Given the description of an element on the screen output the (x, y) to click on. 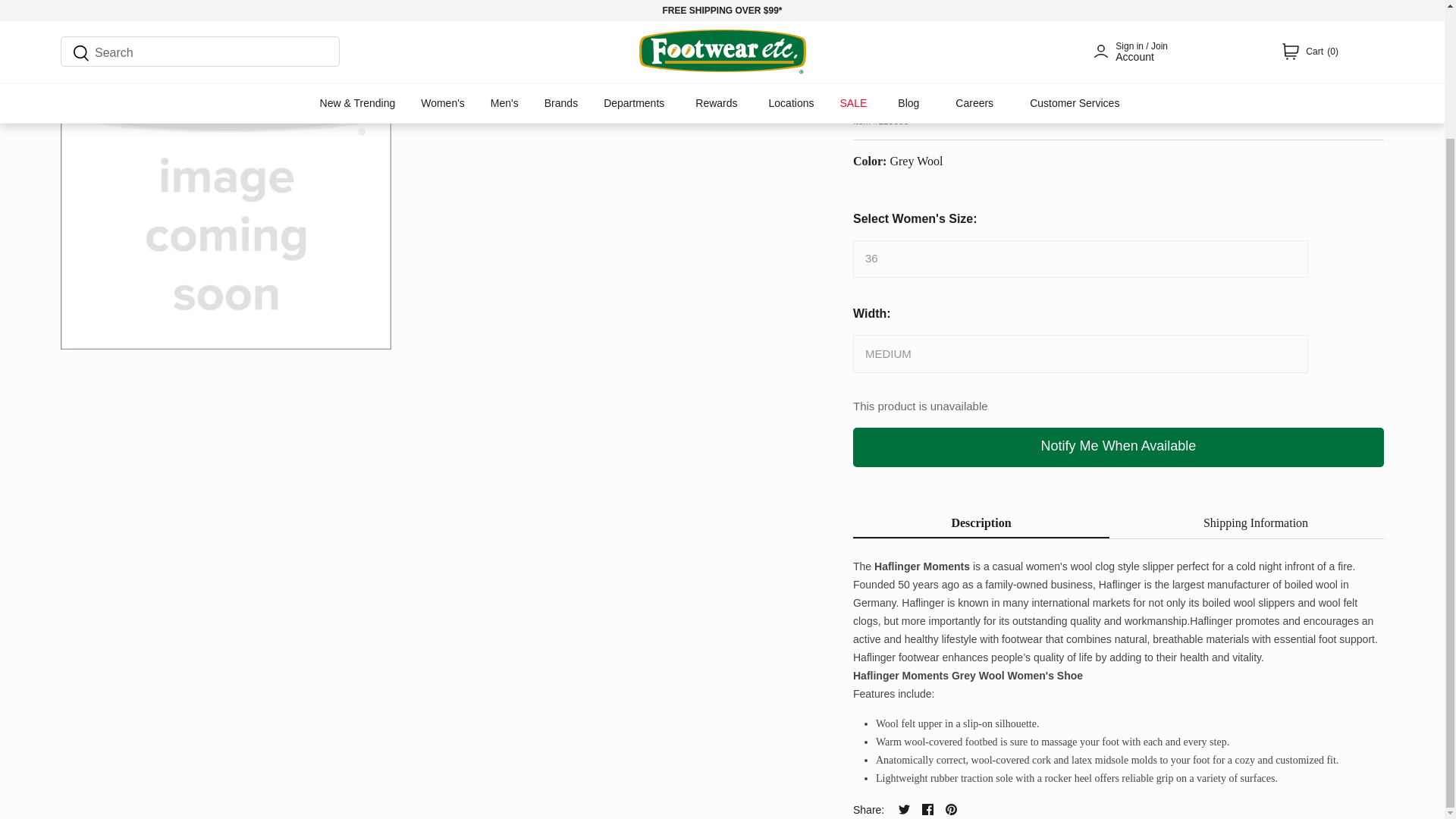
Facebook (927, 808)
Pinterest (950, 808)
Twitter (904, 808)
